Given the description of an element on the screen output the (x, y) to click on. 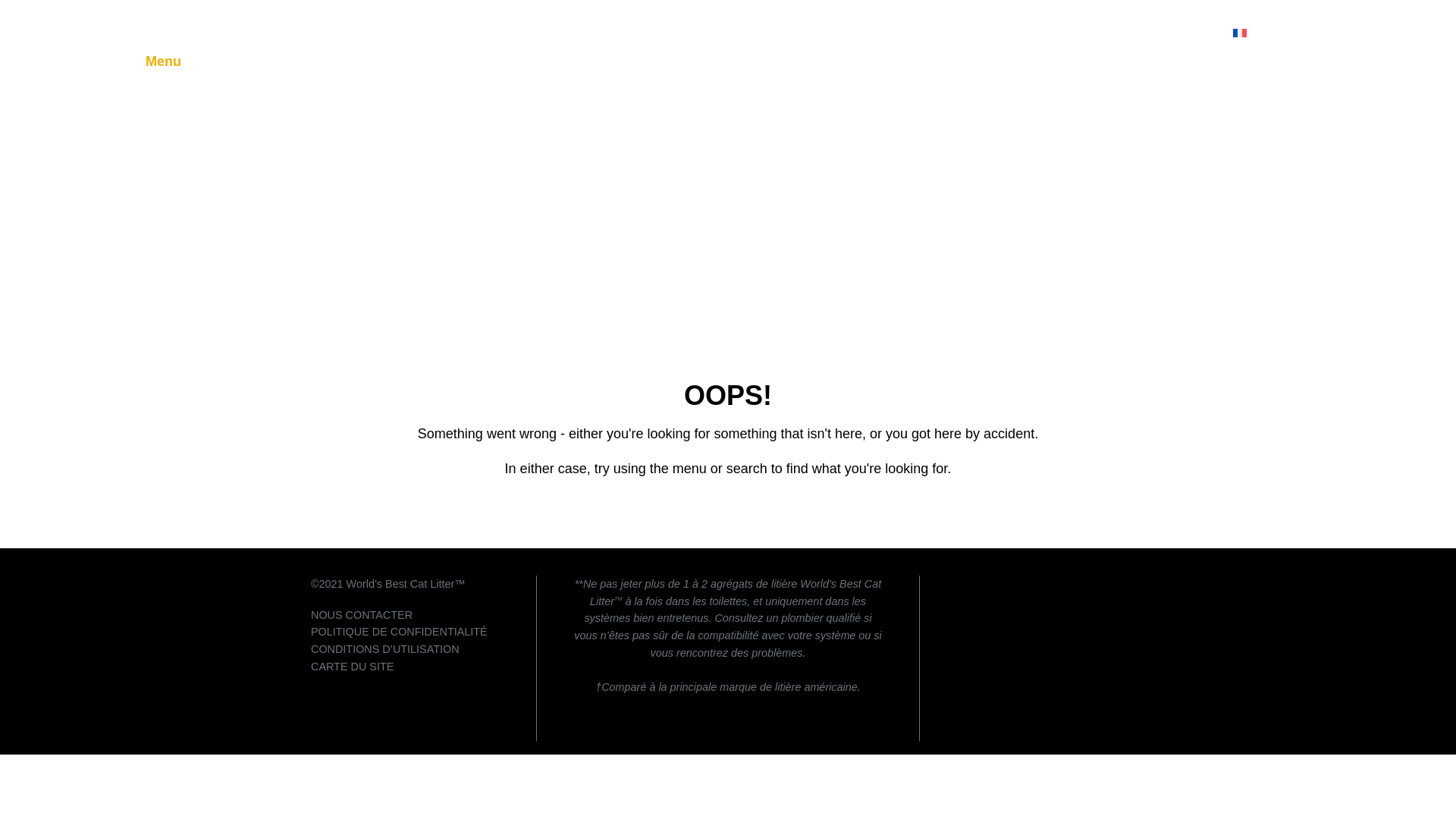
pinterest (1055, 585)
FRANCE (1265, 31)
facebook (994, 585)
twitter (1085, 585)
CE QUI NOUS DISTINGUE (860, 33)
instagram (1024, 585)
CARTE DU SITE (352, 666)
Menu (162, 61)
NOUS CONTACTER (361, 614)
youtube (1115, 585)
Logo (190, 29)
France (1265, 31)
RECHERCHER (1165, 33)
RESTONS EN CONTACT (1028, 33)
